Given the description of an element on the screen output the (x, y) to click on. 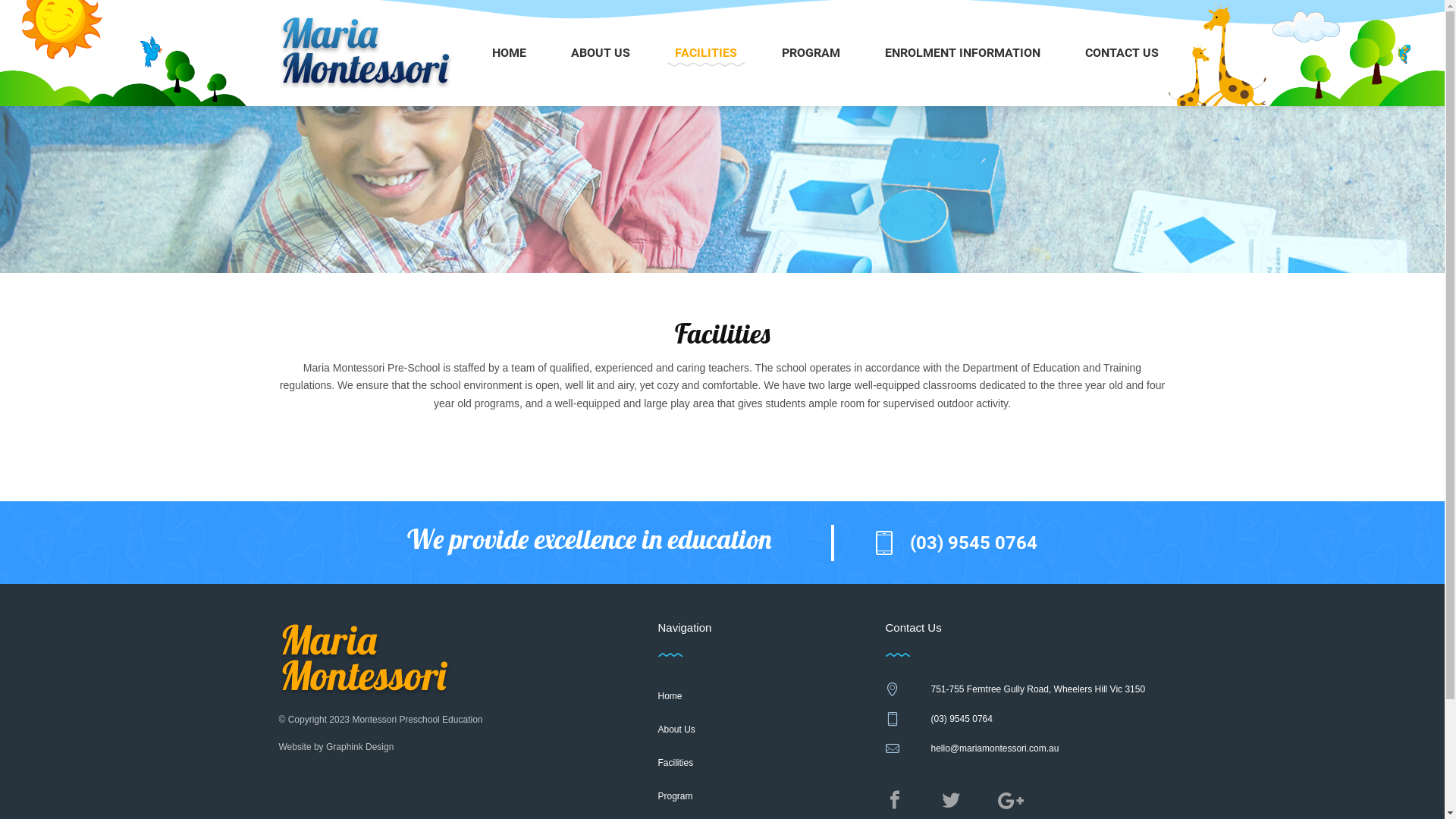
FACILITIES Element type: text (705, 52)
hello@mariamontessori.com.au Element type: text (1034, 753)
Graphink Design Element type: text (359, 746)
(03) 9545 0764 Element type: text (1034, 723)
Facilities Element type: text (722, 762)
751-755 Ferntree Gully Road, Wheelers Hill Vic 3150 Element type: text (1034, 694)
Home Element type: text (722, 695)
Montessori Preschool Education Element type: text (416, 719)
PROGRAM Element type: text (810, 52)
CONTACT US Element type: text (1120, 52)
ABOUT US Element type: text (600, 52)
ENROLMENT INFORMATION Element type: text (962, 52)
HOME Element type: text (508, 52)
About Us Element type: text (722, 729)
Program Element type: text (722, 795)
